Given the description of an element on the screen output the (x, y) to click on. 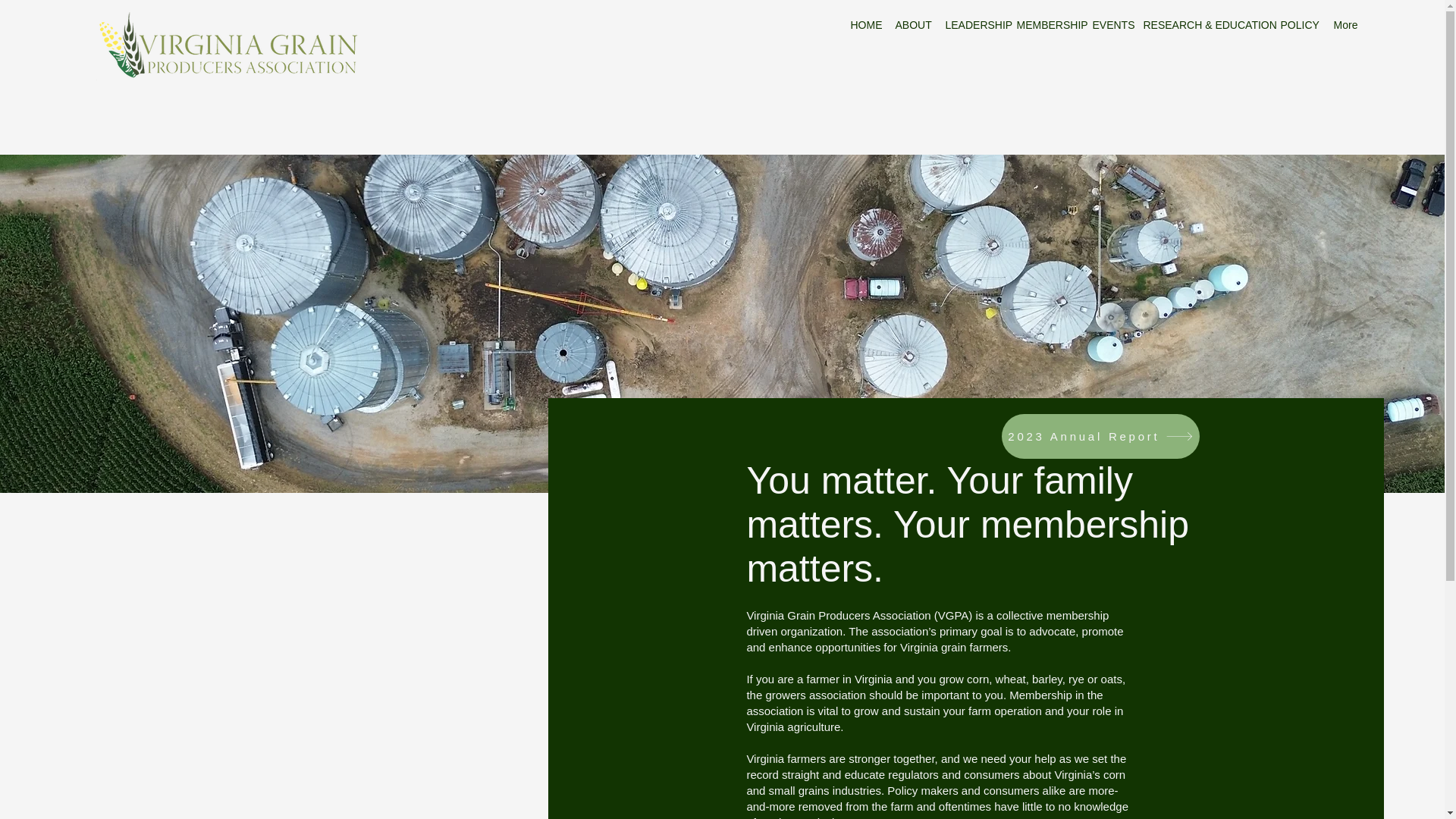
POLICY (1297, 24)
HOME (865, 24)
EVENTS (1109, 24)
MEMBERSHIP (1046, 24)
2023 Annual Report (1100, 436)
